Given the description of an element on the screen output the (x, y) to click on. 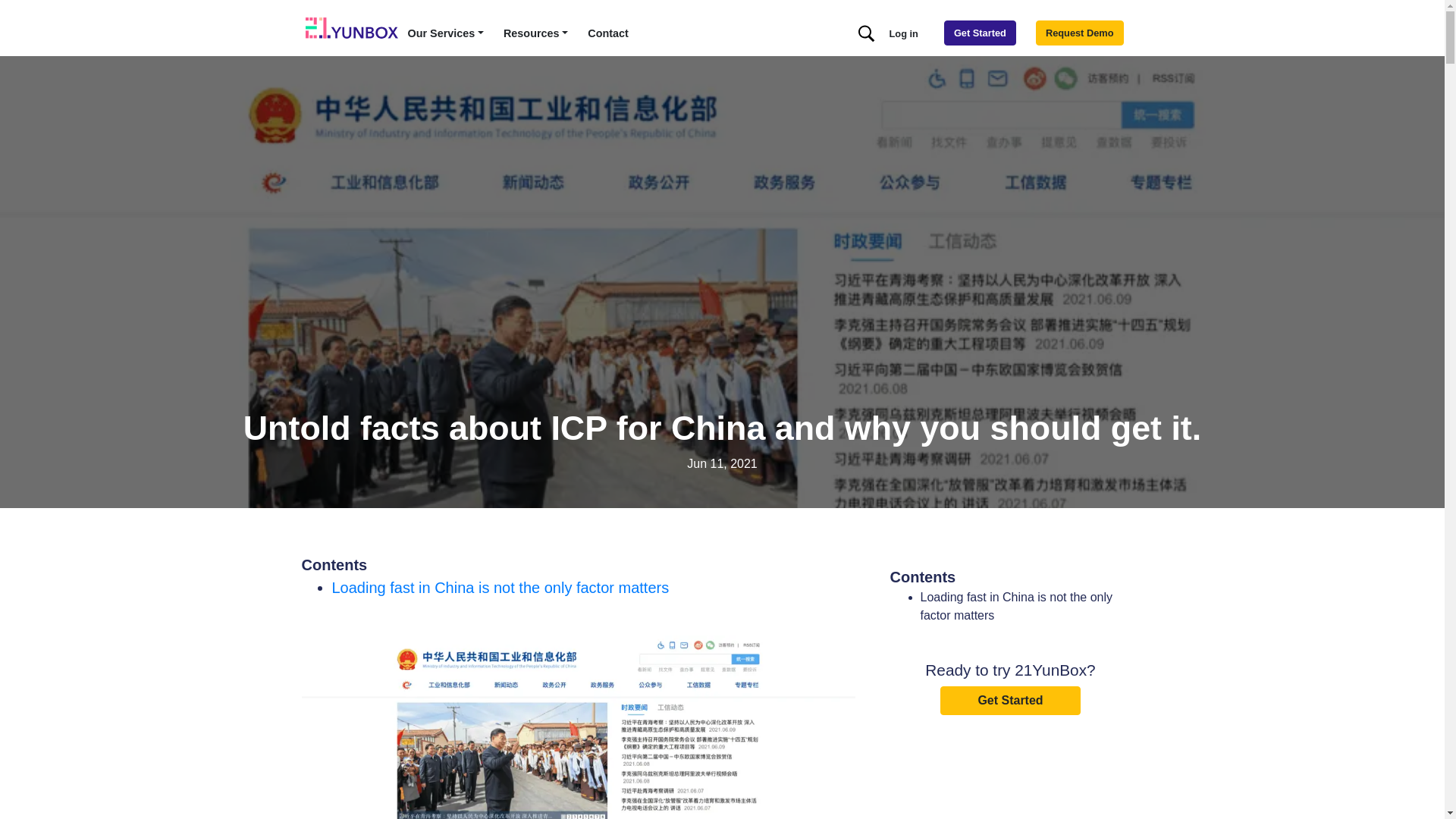
Log in Element type: text (903, 33)
Our Services Element type: text (445, 33)
Request Demo Element type: text (1079, 32)
Get Started Element type: text (980, 32)
Get Started Element type: text (1009, 700)
Resources Element type: text (535, 33)
Loading fast in China is not the only factor matters Element type: text (500, 587)
Contact Element type: text (607, 33)
Loading fast in China is not the only factor matters Element type: text (1016, 605)
